Given the description of an element on the screen output the (x, y) to click on. 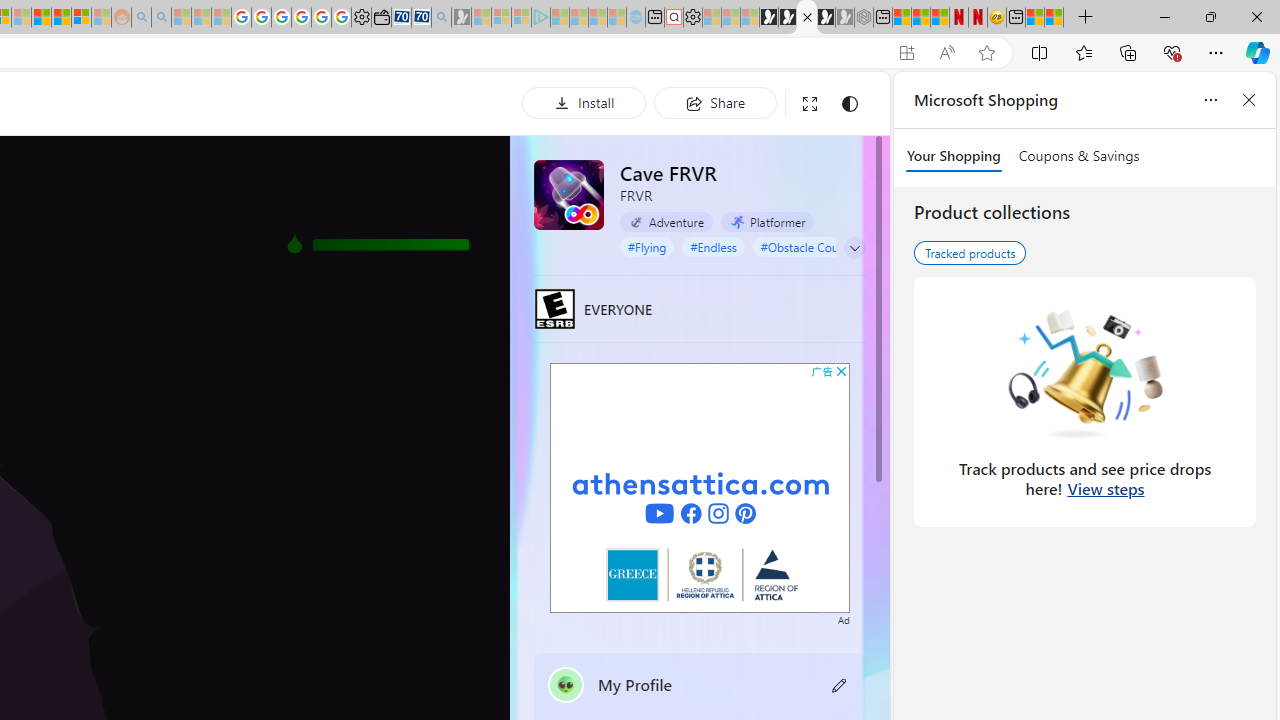
Class: button edit-icon (839, 684)
Platformer (767, 222)
Share (715, 102)
#Obstacle Course (807, 246)
Class: expand-arrow neutral (854, 247)
Bing Real Estate - Home sales and rental listings - Sleeping (440, 17)
Cheap Car Rentals - Save70.com (421, 17)
Adventure (665, 222)
Microsoft Start Gaming - Sleeping (461, 17)
